Given the description of an element on the screen output the (x, y) to click on. 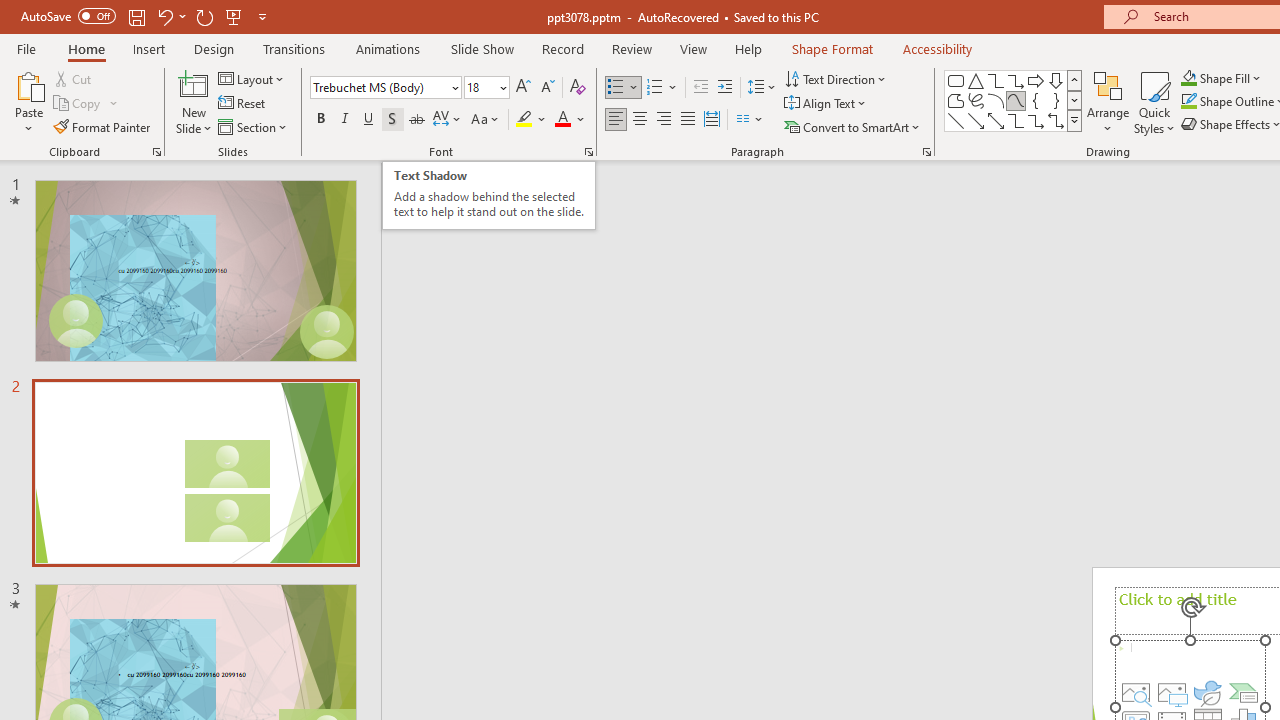
Line Arrow: Double (995, 120)
